Given the description of an element on the screen output the (x, y) to click on. 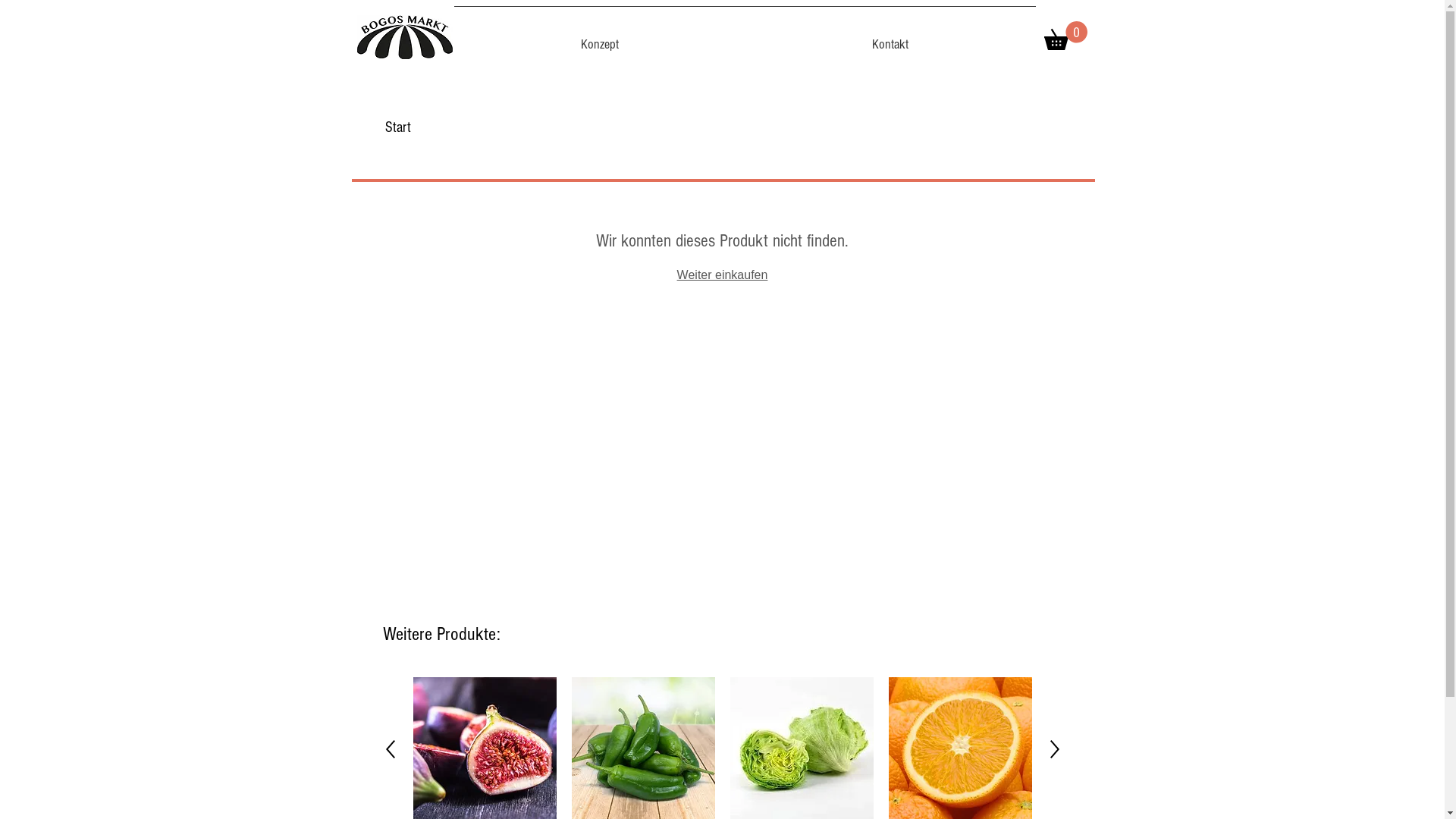
Start Element type: text (398, 127)
Kontakt Element type: text (889, 37)
Konzept Element type: text (598, 37)
0 Element type: text (1064, 35)
Weiter einkaufen Element type: text (722, 274)
